Given the description of an element on the screen output the (x, y) to click on. 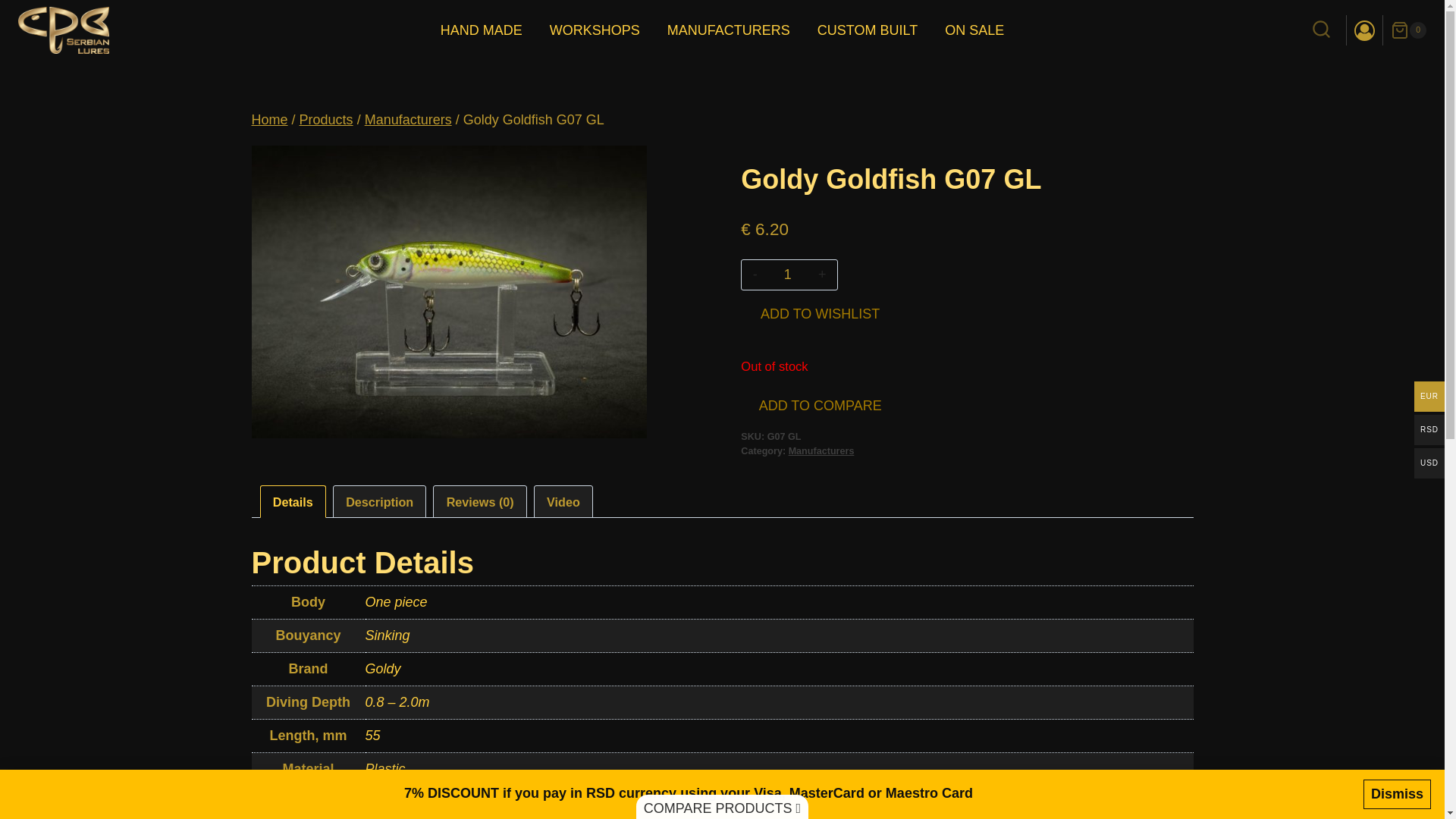
Description (379, 501)
One piece (396, 601)
Goldy (383, 668)
Manufacturers (821, 450)
WORKSHOPS (594, 30)
Qty (787, 275)
ON SALE (974, 30)
55 (372, 735)
Sinking (387, 635)
- (754, 274)
